Given the description of an element on the screen output the (x, y) to click on. 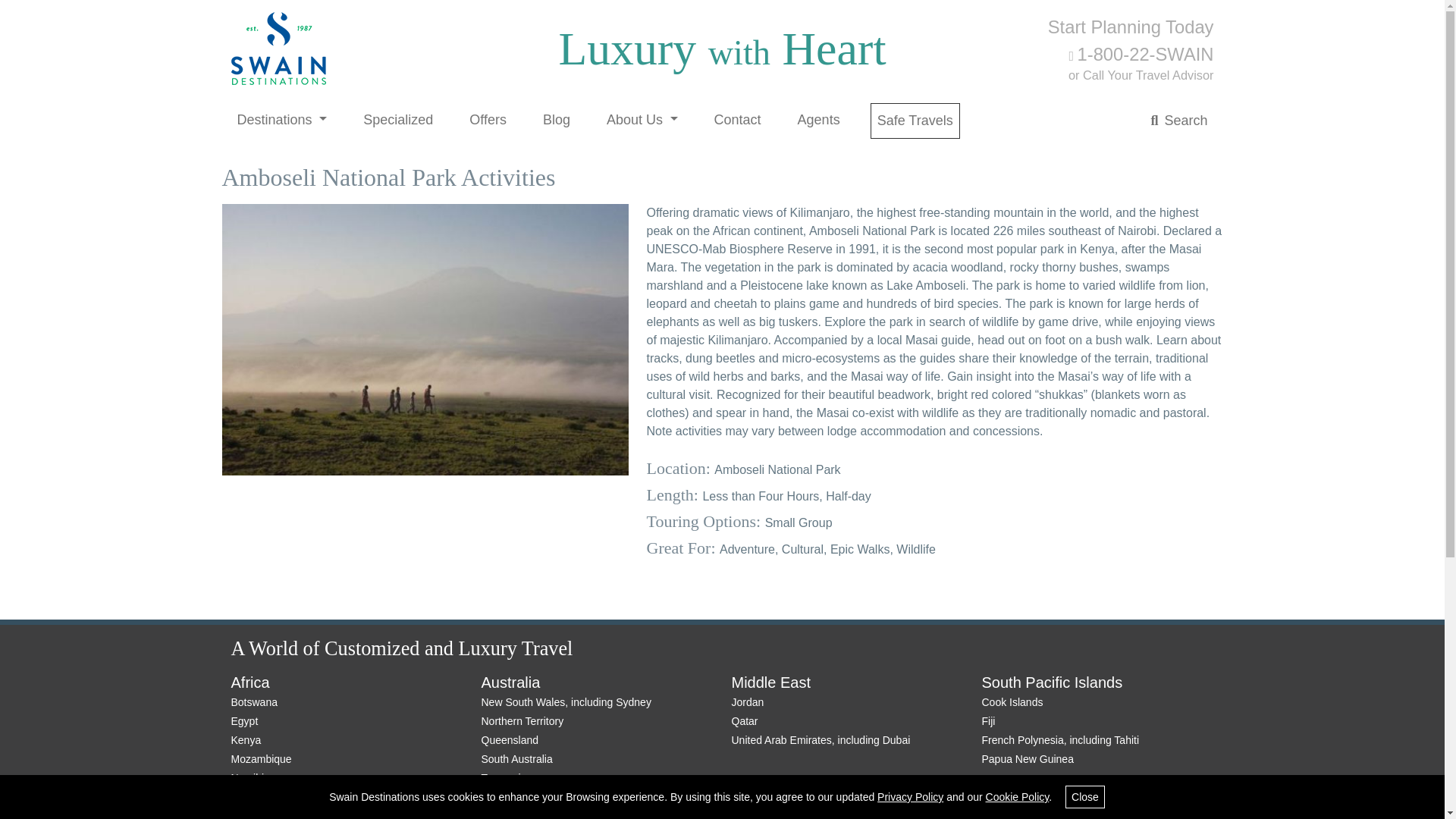
About Us (641, 120)
Egypt (243, 720)
Search (1178, 121)
Cookie Policy (1017, 796)
Mozambique (260, 758)
Safe Travels (914, 121)
Contact (737, 120)
Close (1085, 796)
Australia (510, 682)
1-800-22-SWAIN (1141, 54)
Agents (818, 120)
Botswana (253, 702)
Privacy Policy (910, 796)
Namibia (249, 777)
Destinations (281, 120)
